Given the description of an element on the screen output the (x, y) to click on. 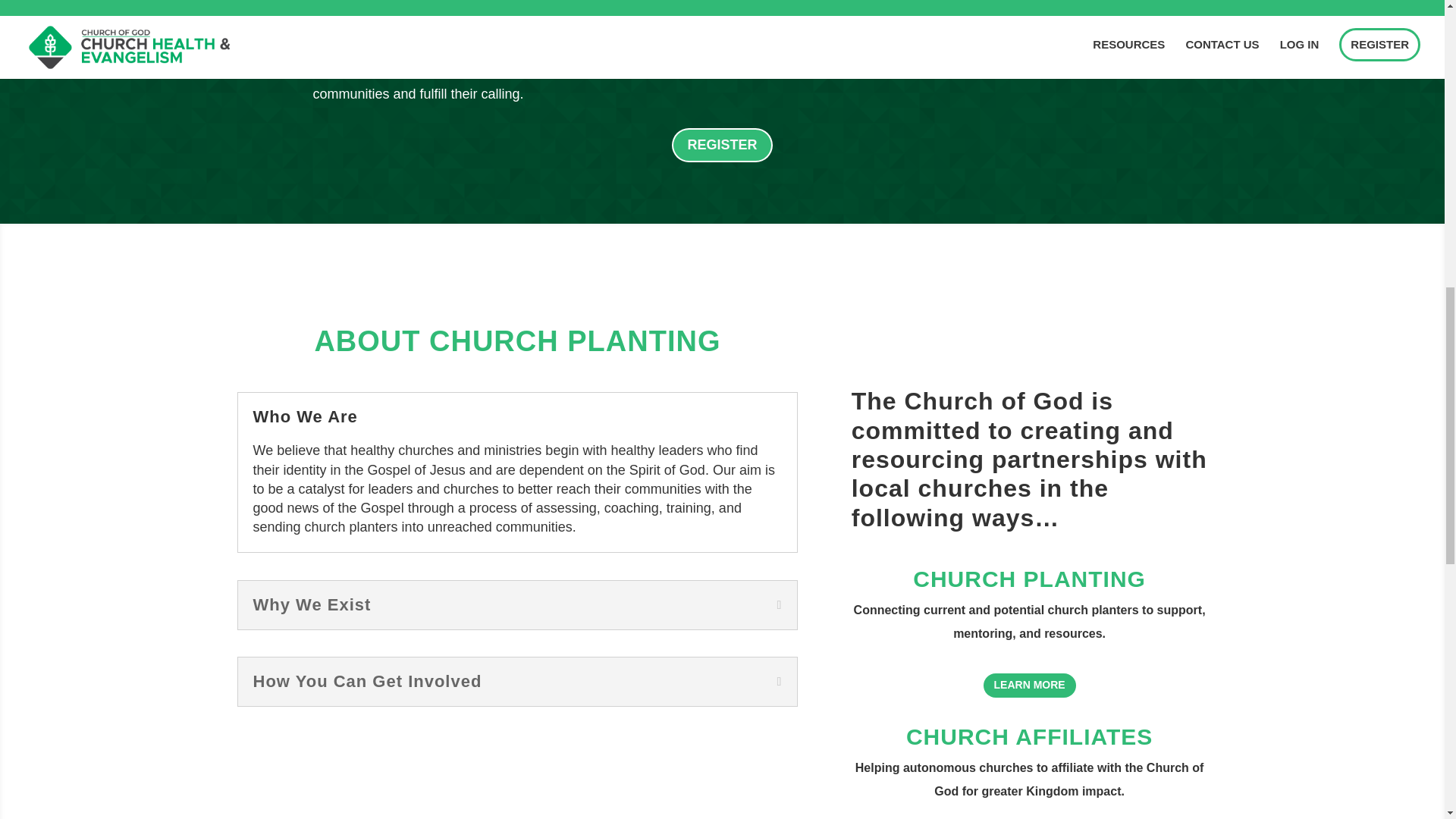
REGISTER (721, 144)
CHURCH AFFILIATES (1029, 736)
LEARN MORE (1029, 685)
CHURCH PLANTING (1028, 578)
